Given the description of an element on the screen output the (x, y) to click on. 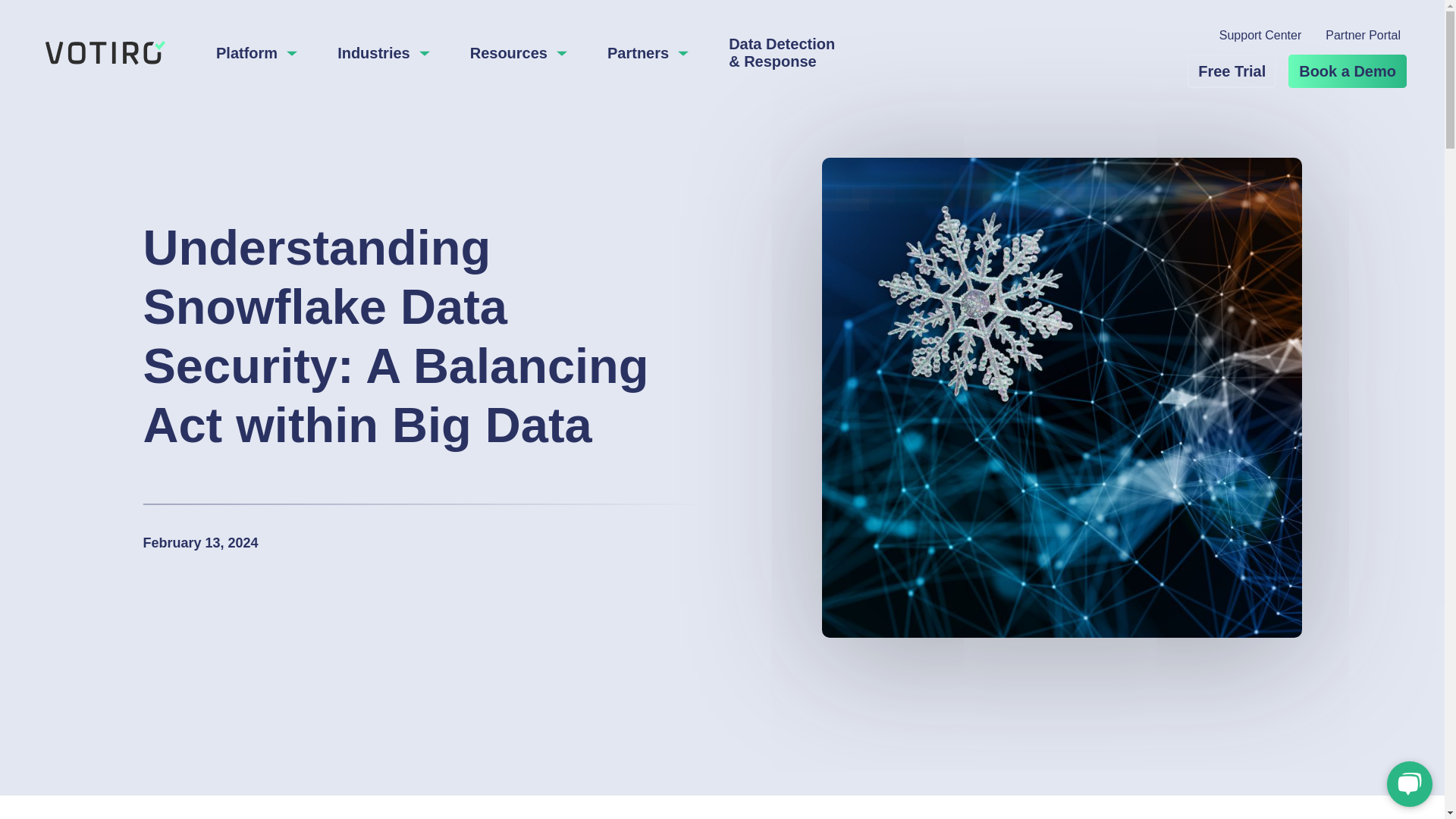
Platform (256, 52)
